Given the description of an element on the screen output the (x, y) to click on. 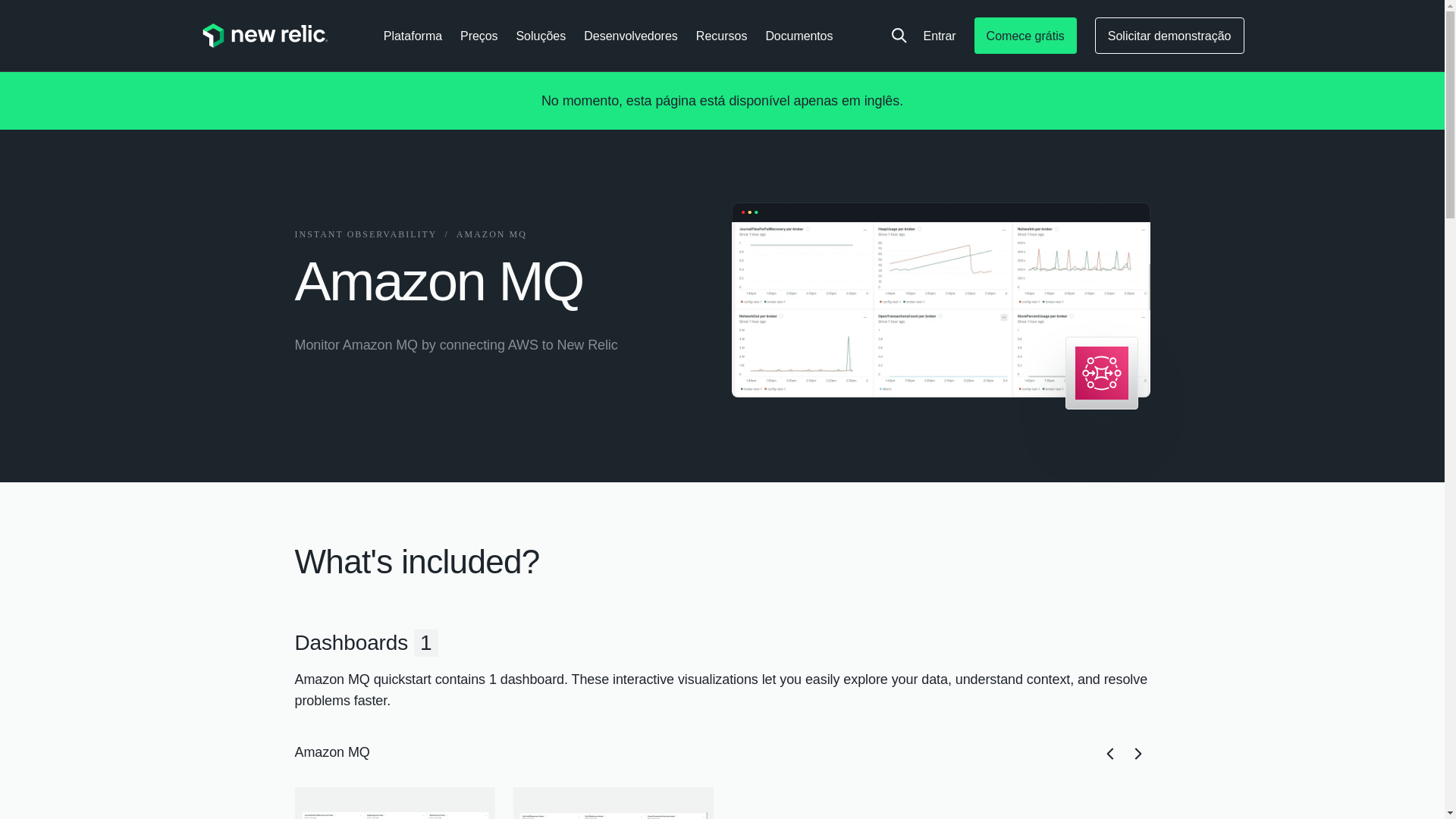
New Relic Logo (264, 35)
Plataforma (722, 803)
